Given the description of an element on the screen output the (x, y) to click on. 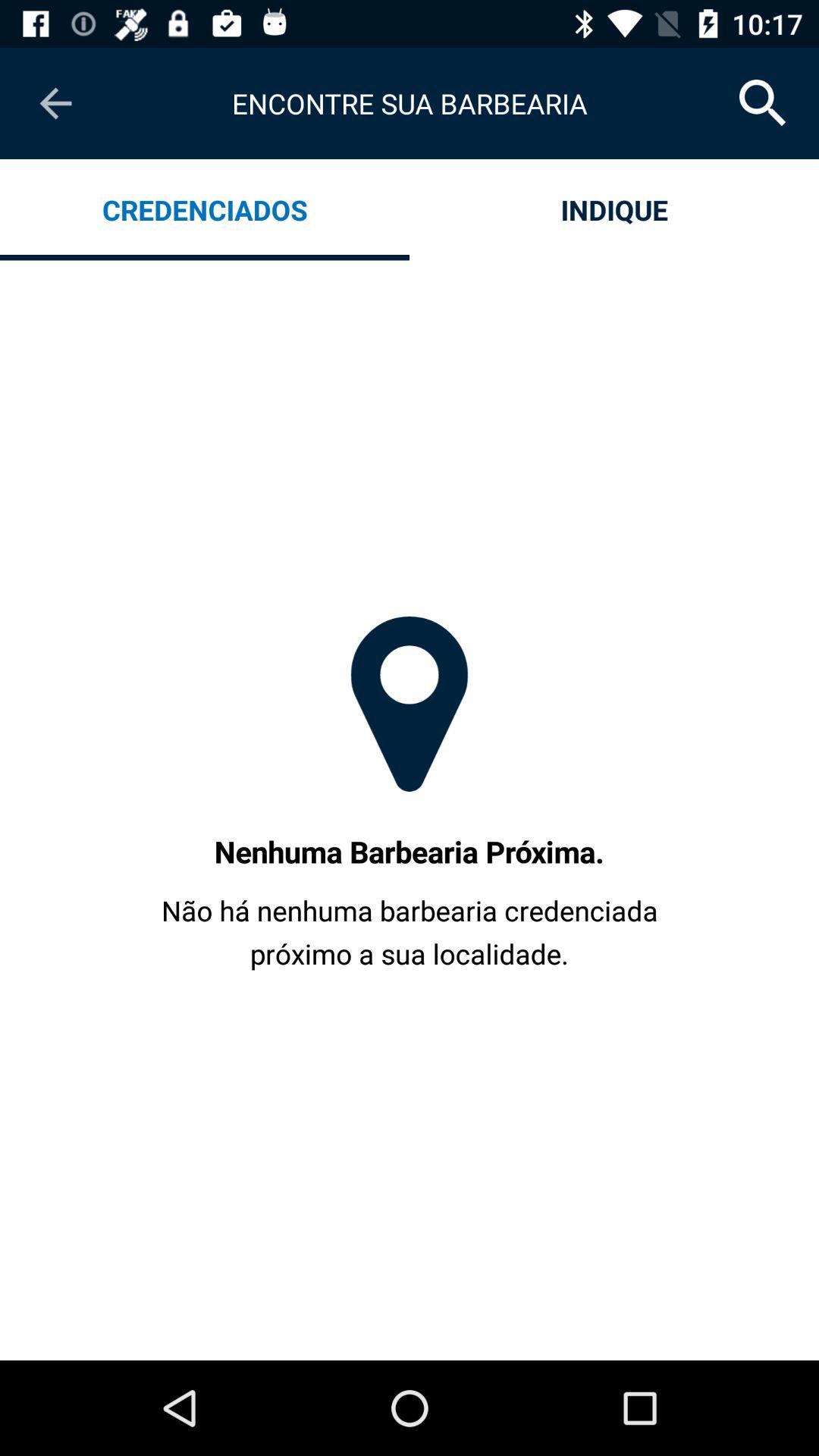
turn off icon to the left of the encontre sua barbearia icon (55, 103)
